Given the description of an element on the screen output the (x, y) to click on. 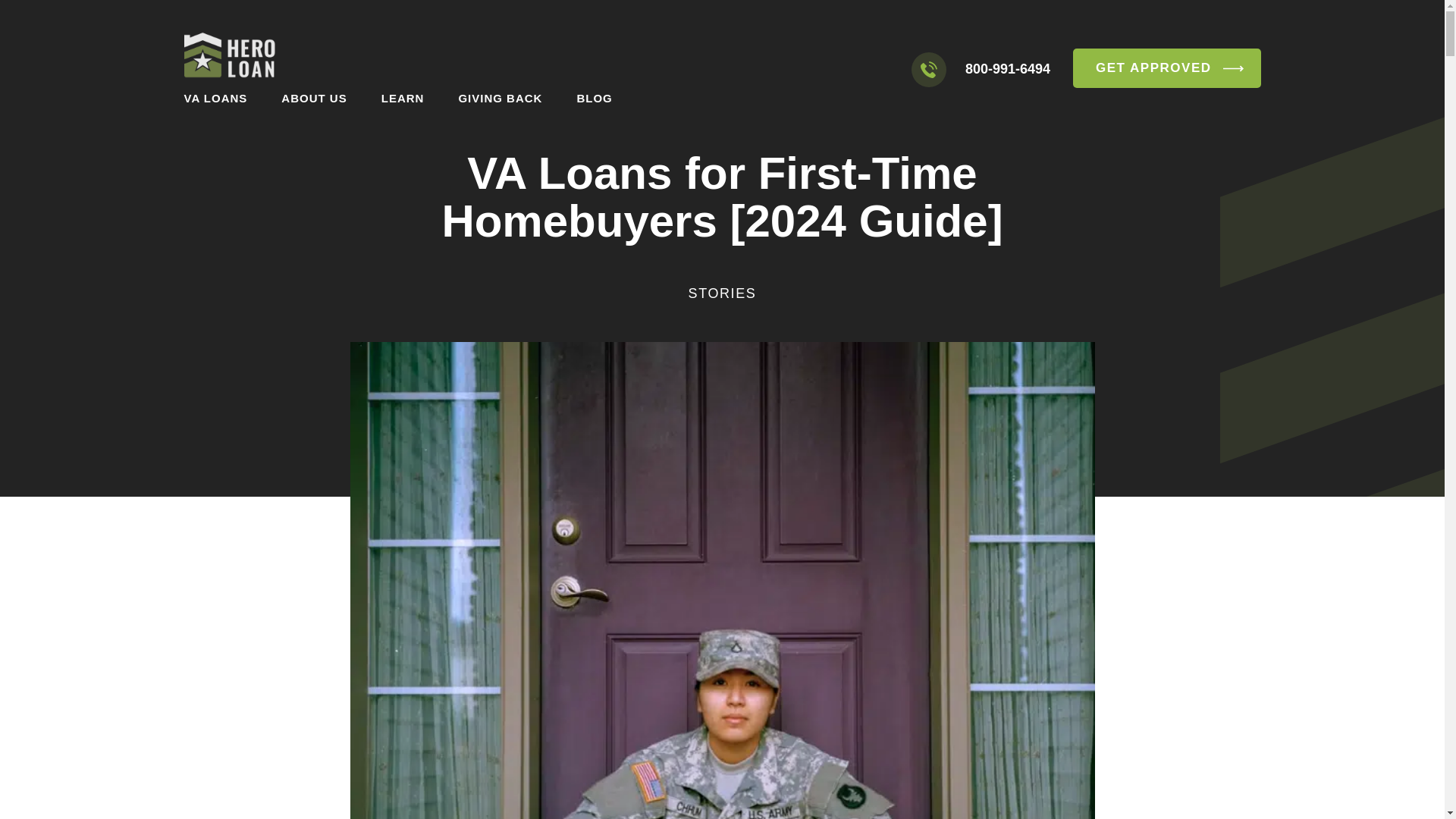
Hero Loan: VA Home Loans for Veterans and military families (229, 58)
BLOG (593, 97)
VA LOANS (215, 97)
STORIES (722, 293)
GET APPROVED (1166, 67)
800-991-6494 (1007, 68)
GIVING BACK (499, 97)
LEARN (403, 97)
ABOUT US (313, 97)
